Given the description of an element on the screen output the (x, y) to click on. 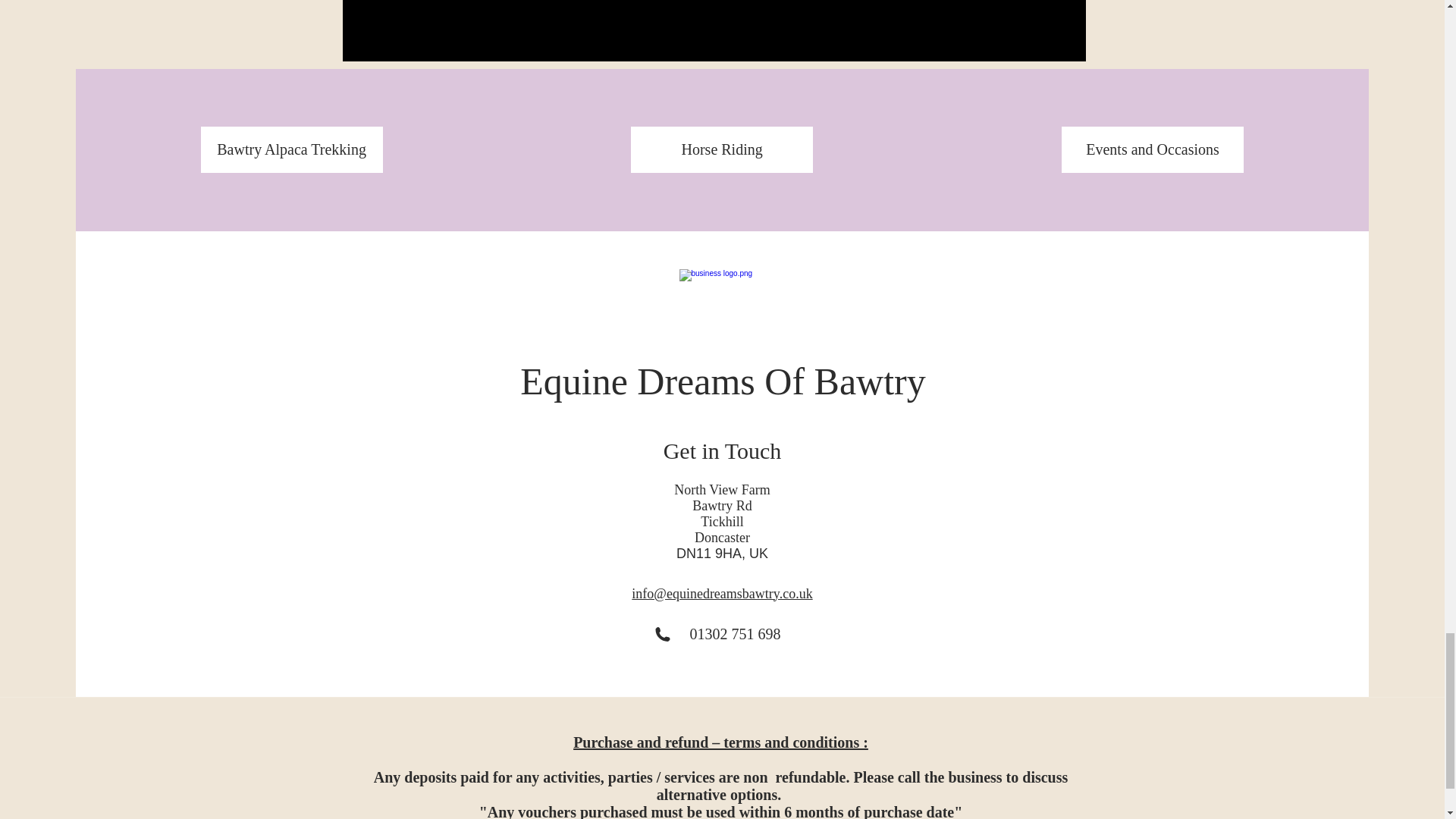
01302 751 698 (735, 632)
Bawtry Alpaca Trekking (291, 149)
Horse Riding (721, 149)
Events and Occasions (1152, 149)
Equine Dreams Of Bawtry (722, 381)
